Given the description of an element on the screen output the (x, y) to click on. 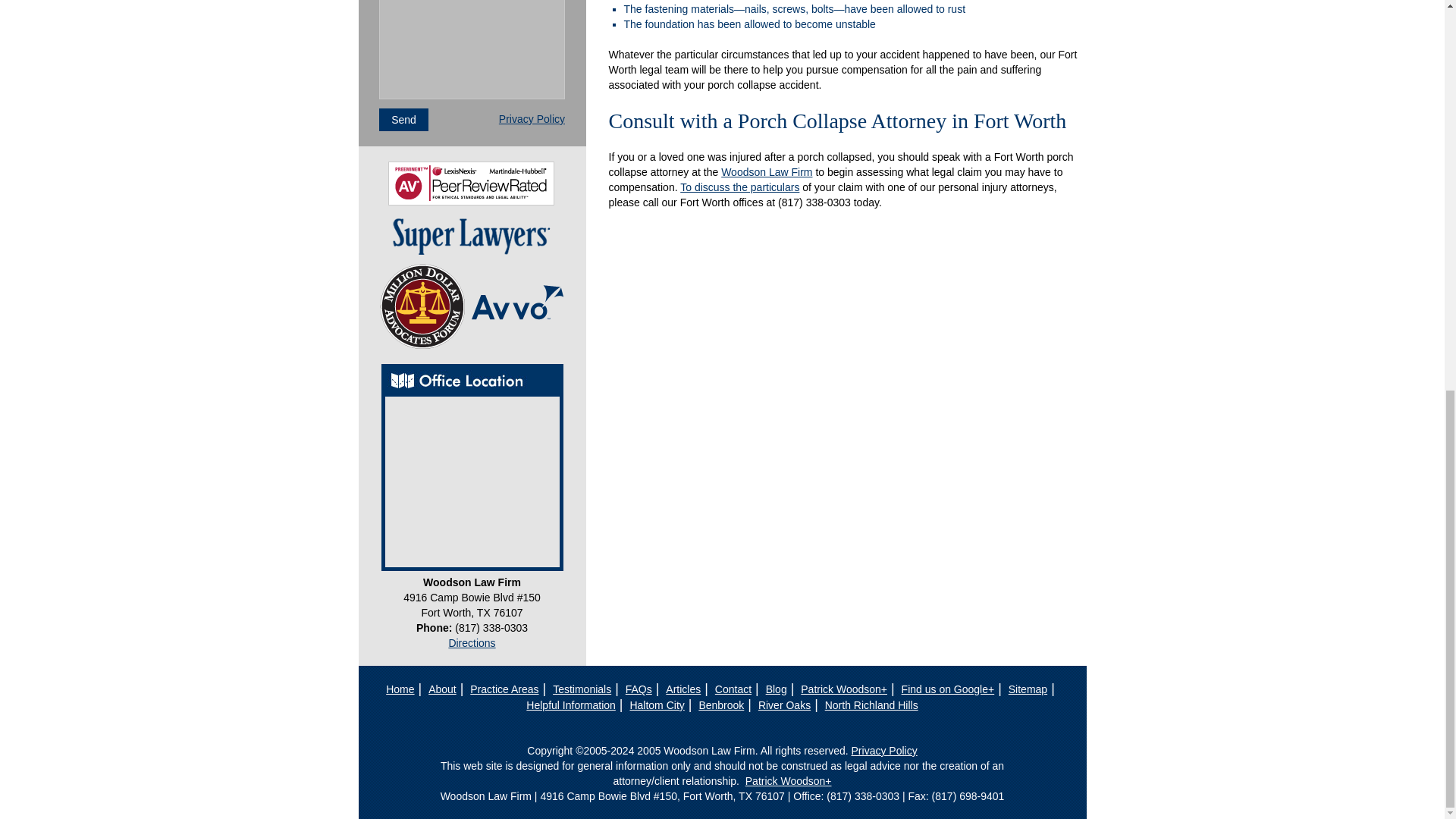
Blog (776, 689)
River Oaks (784, 705)
Woodson Law Firm (766, 172)
Directions (471, 643)
Practice Areas (504, 689)
Testimonials (582, 689)
Send (403, 119)
Send (403, 119)
Haltom City (656, 705)
Home (399, 689)
